Given the description of an element on the screen output the (x, y) to click on. 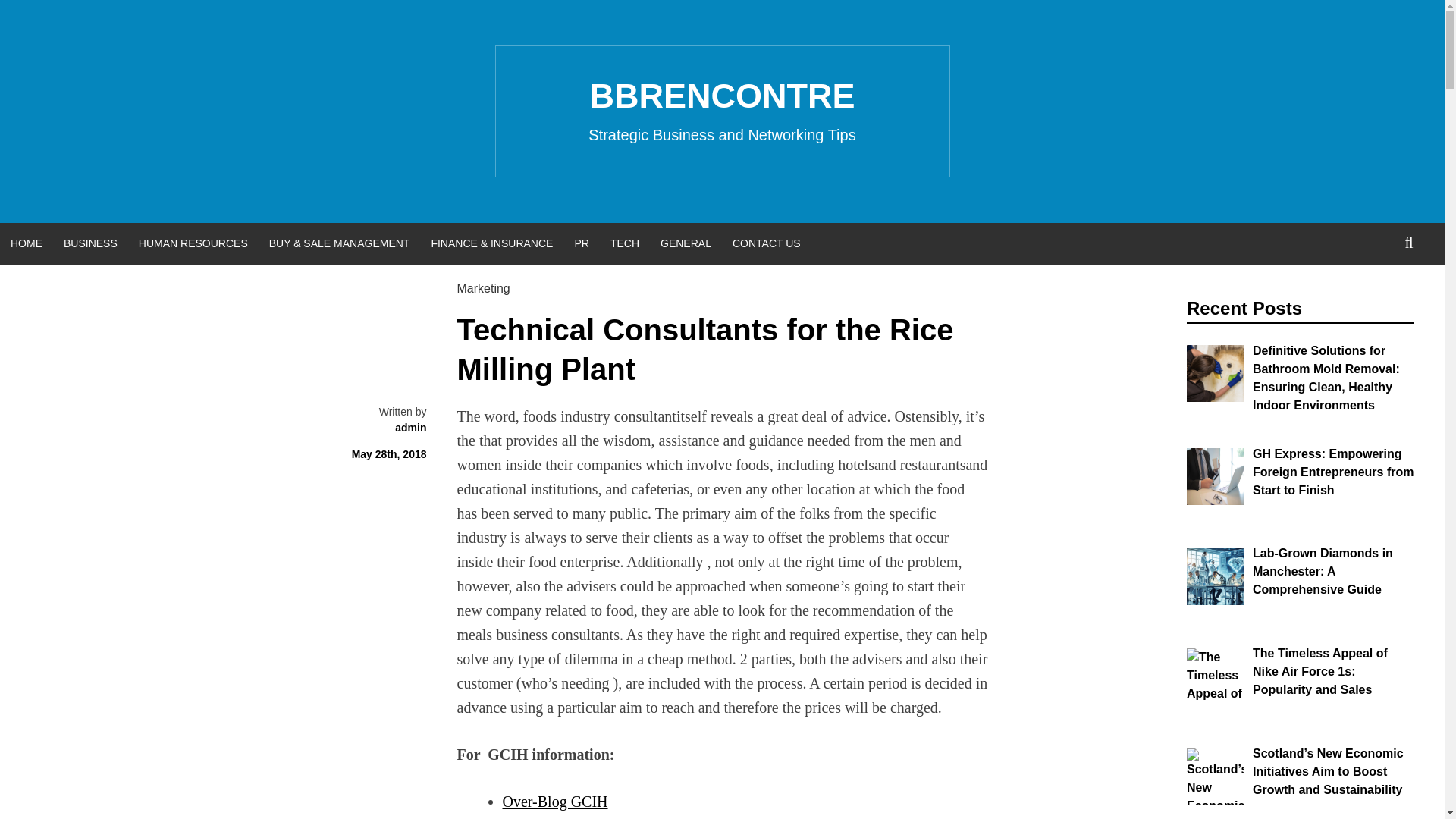
HOME (26, 243)
admin (410, 427)
May 28th, 2018 (389, 453)
Over-Blog GCIH (554, 801)
bathroom mold removal (1214, 373)
HUMAN RESOURCES (193, 243)
Lab-Grown Diamonds in Manchester: A Comprehensive Guide (1322, 571)
BBRENCONTRE (721, 95)
Marketing (483, 287)
SEARCH (1409, 242)
CONTACT US (766, 243)
BUSINESS (90, 243)
